Given the description of an element on the screen output the (x, y) to click on. 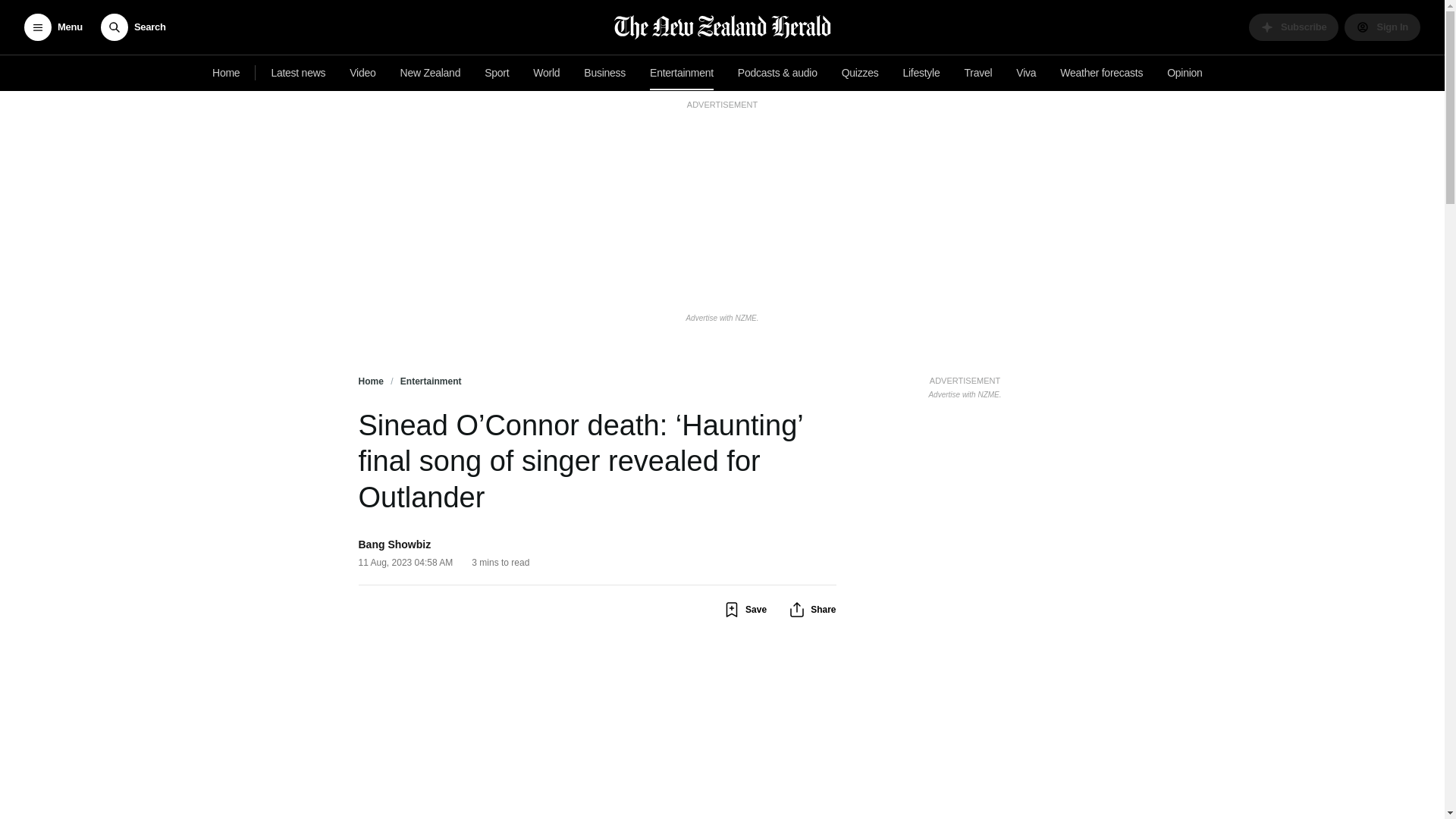
Sport (497, 72)
Travel (978, 72)
Viva (1026, 72)
Manage your account (964, 384)
World (1382, 26)
Latest news (546, 72)
Subscribe (298, 72)
Home (1294, 26)
Search (225, 72)
